Given the description of an element on the screen output the (x, y) to click on. 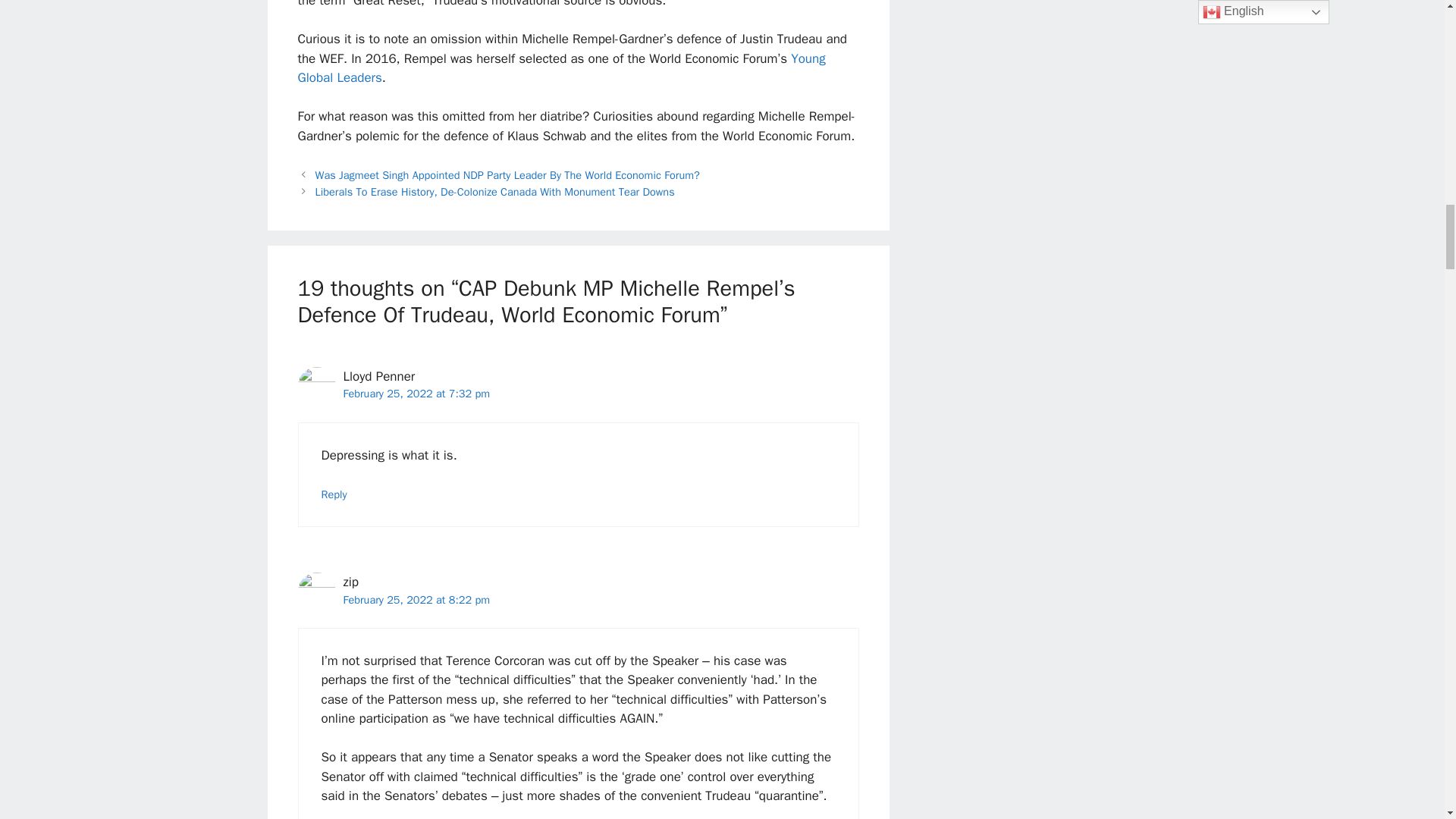
Young Global Leaders (561, 68)
Young Global Leaders (561, 68)
February 25, 2022 at 8:22 pm (415, 599)
Reply (334, 494)
February 25, 2022 at 7:32 pm (415, 393)
